Given the description of an element on the screen output the (x, y) to click on. 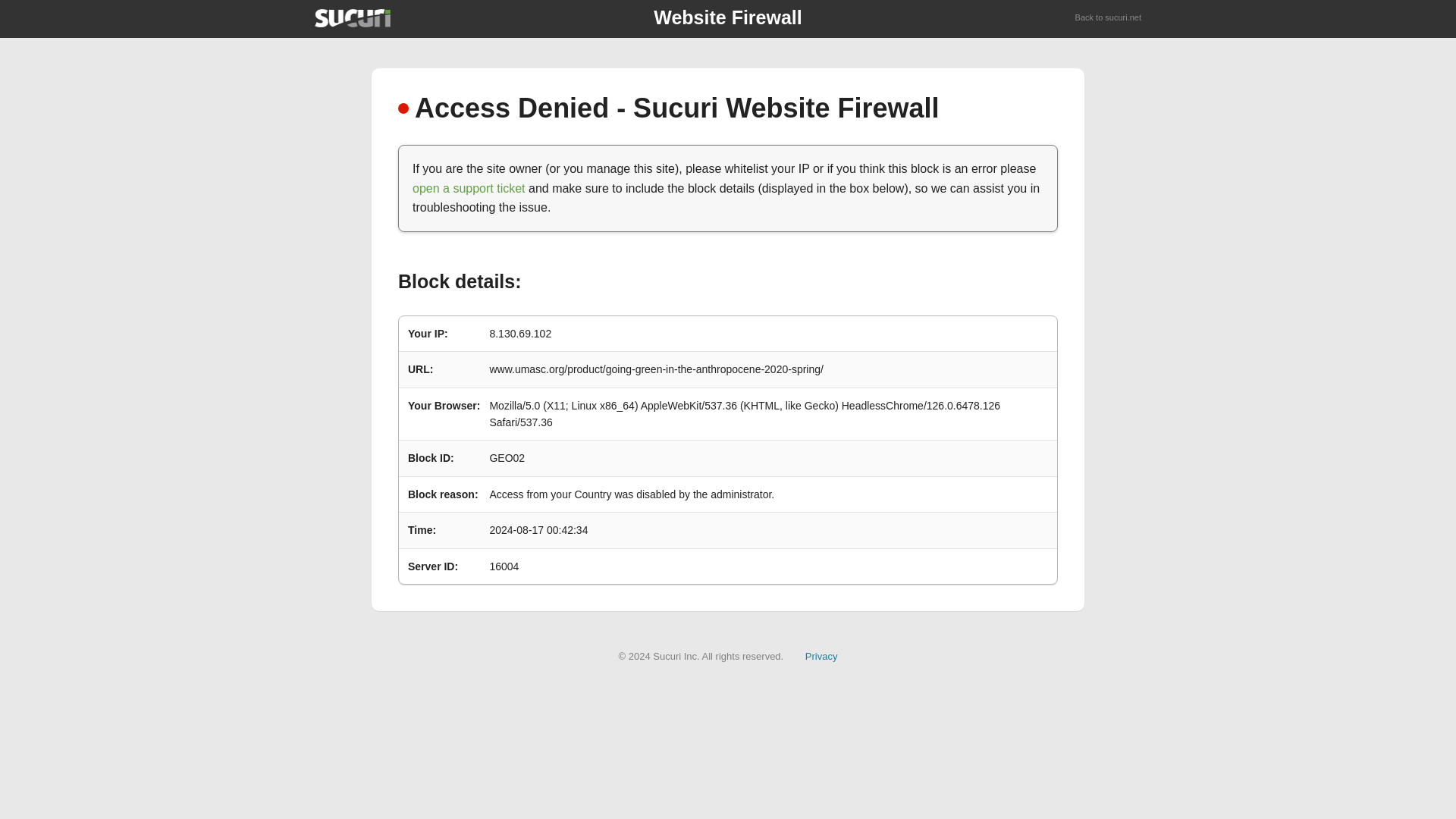
Back to sucuri.net (1108, 18)
Privacy (821, 655)
open a support ticket (468, 187)
